Given the description of an element on the screen output the (x, y) to click on. 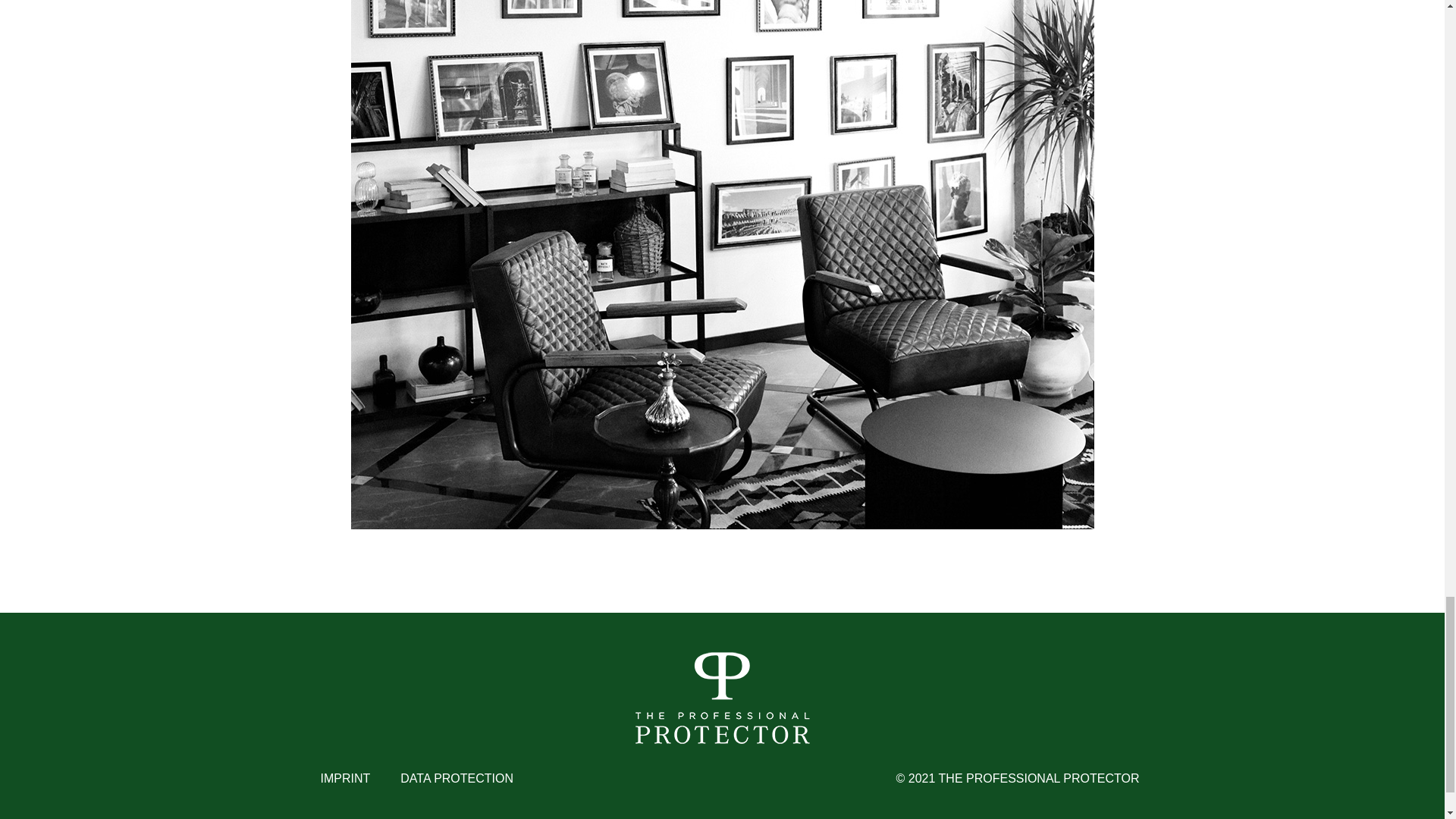
Imprint Professional Protector (344, 778)
DATA PROTECTION (456, 778)
Data protection Professional Protector (456, 778)
IMPRINT (344, 778)
